Given the description of an element on the screen output the (x, y) to click on. 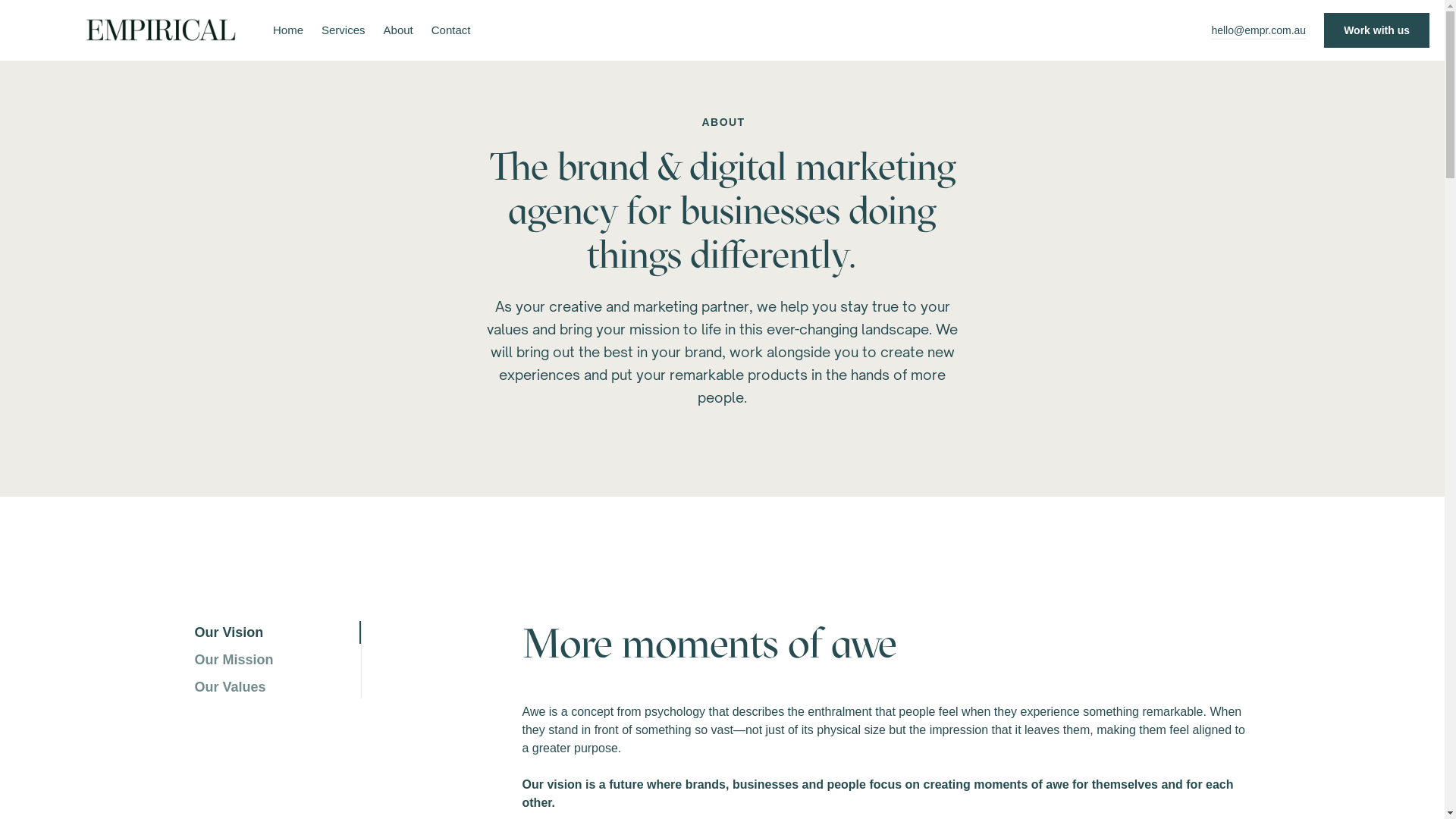
hello@empr.com.au Element type: text (1258, 29)
Work with us Element type: text (1376, 29)
Our Values Element type: text (277, 686)
Our Vision Element type: text (277, 632)
About Element type: text (398, 30)
Home Element type: text (288, 30)
Our Mission Element type: text (277, 659)
Contact Element type: text (450, 30)
Services Element type: text (343, 30)
